Given the description of an element on the screen output the (x, y) to click on. 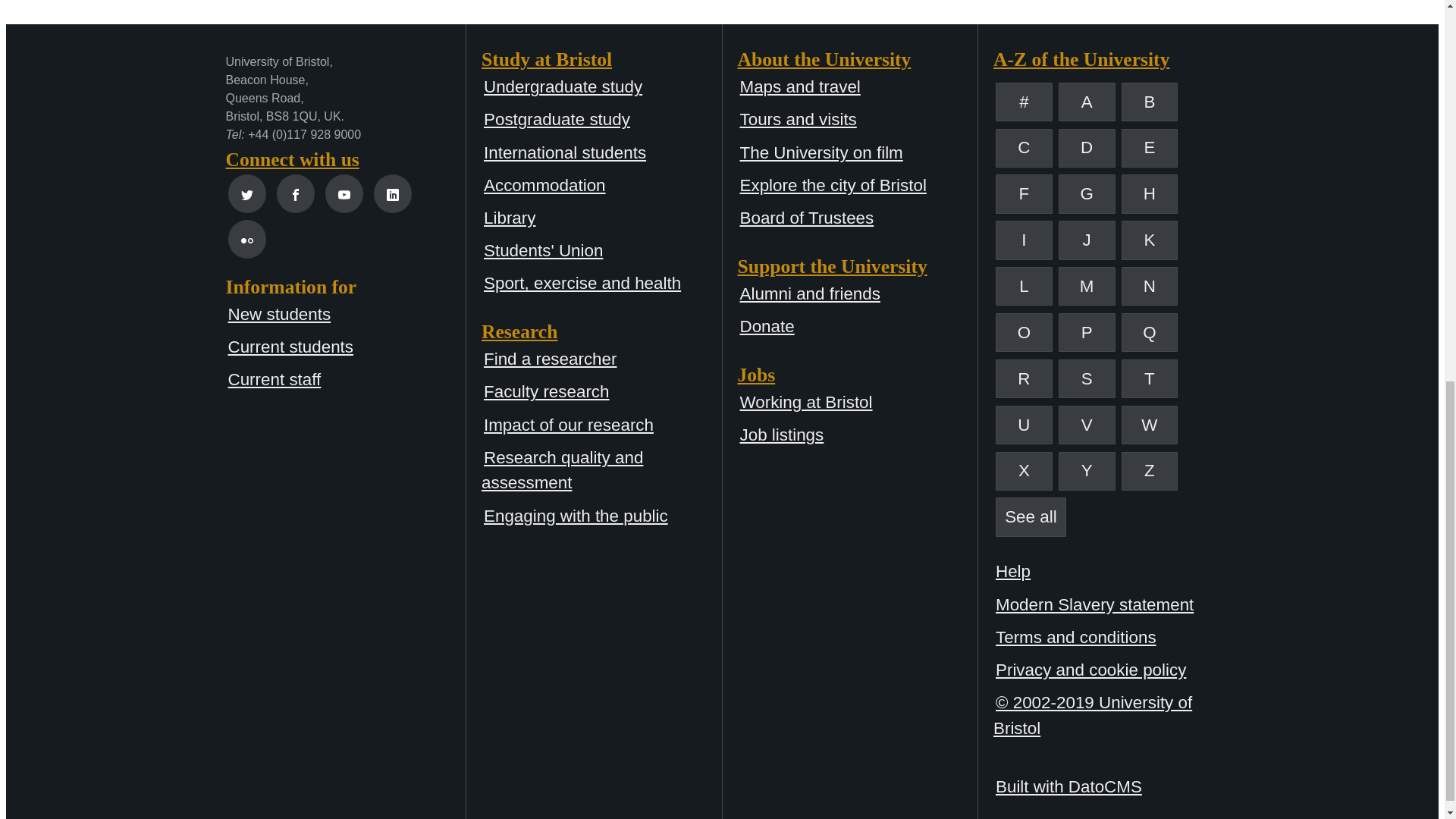
flickr2 (245, 238)
twitter (247, 194)
Postgraduate study (556, 118)
Board of Trustees (807, 217)
Current staff (273, 379)
Study at Bristol (601, 59)
youtube (343, 194)
The University on film (820, 152)
Undergraduate study (562, 86)
Research (601, 332)
Library (509, 217)
linkedin (392, 194)
flickr2 (247, 240)
linkedin (393, 193)
Twitter (245, 193)
